Given the description of an element on the screen output the (x, y) to click on. 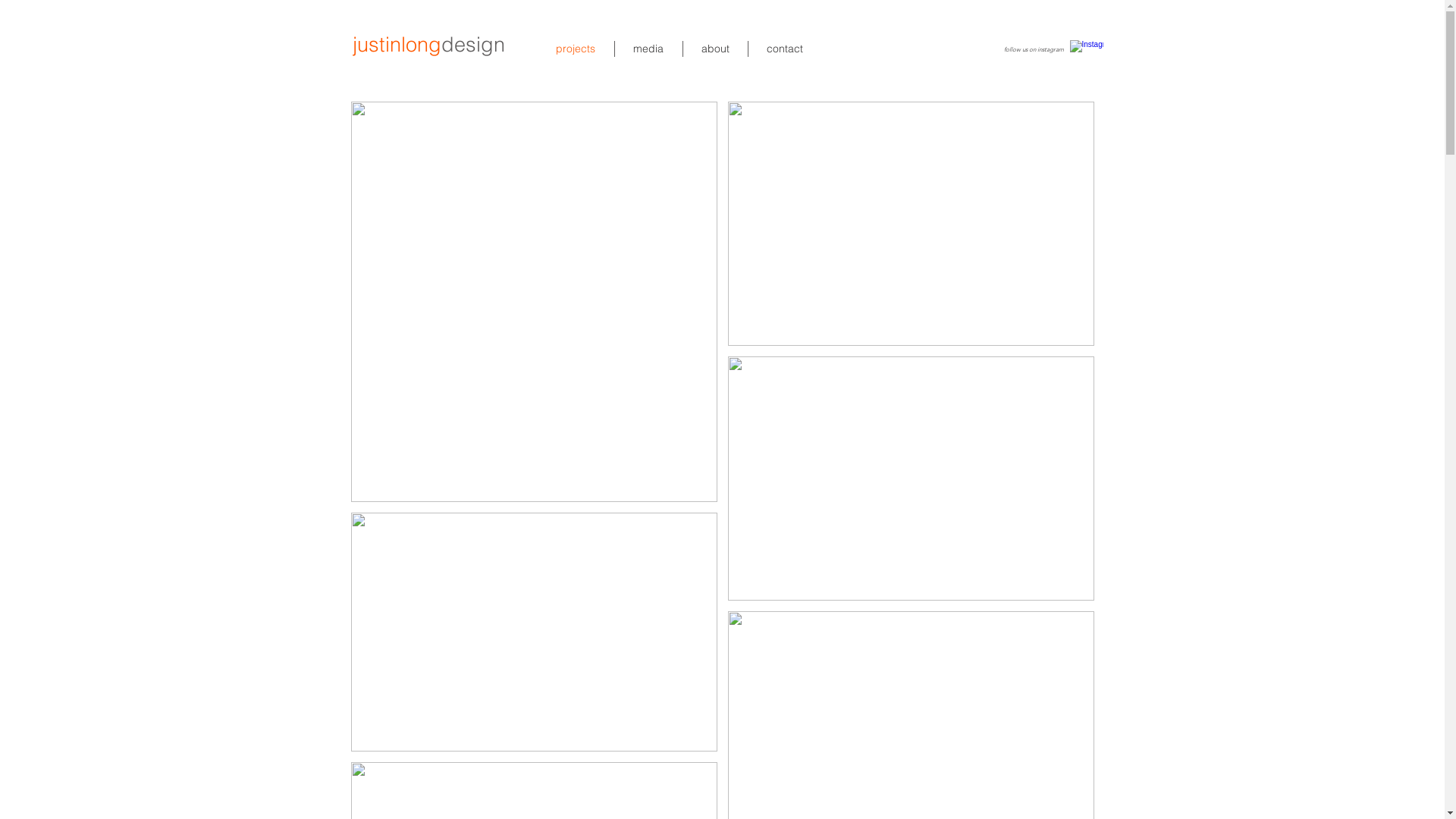
projects Element type: text (574, 48)
contact Element type: text (783, 48)
about Element type: text (714, 48)
media Element type: text (647, 48)
